Given the description of an element on the screen output the (x, y) to click on. 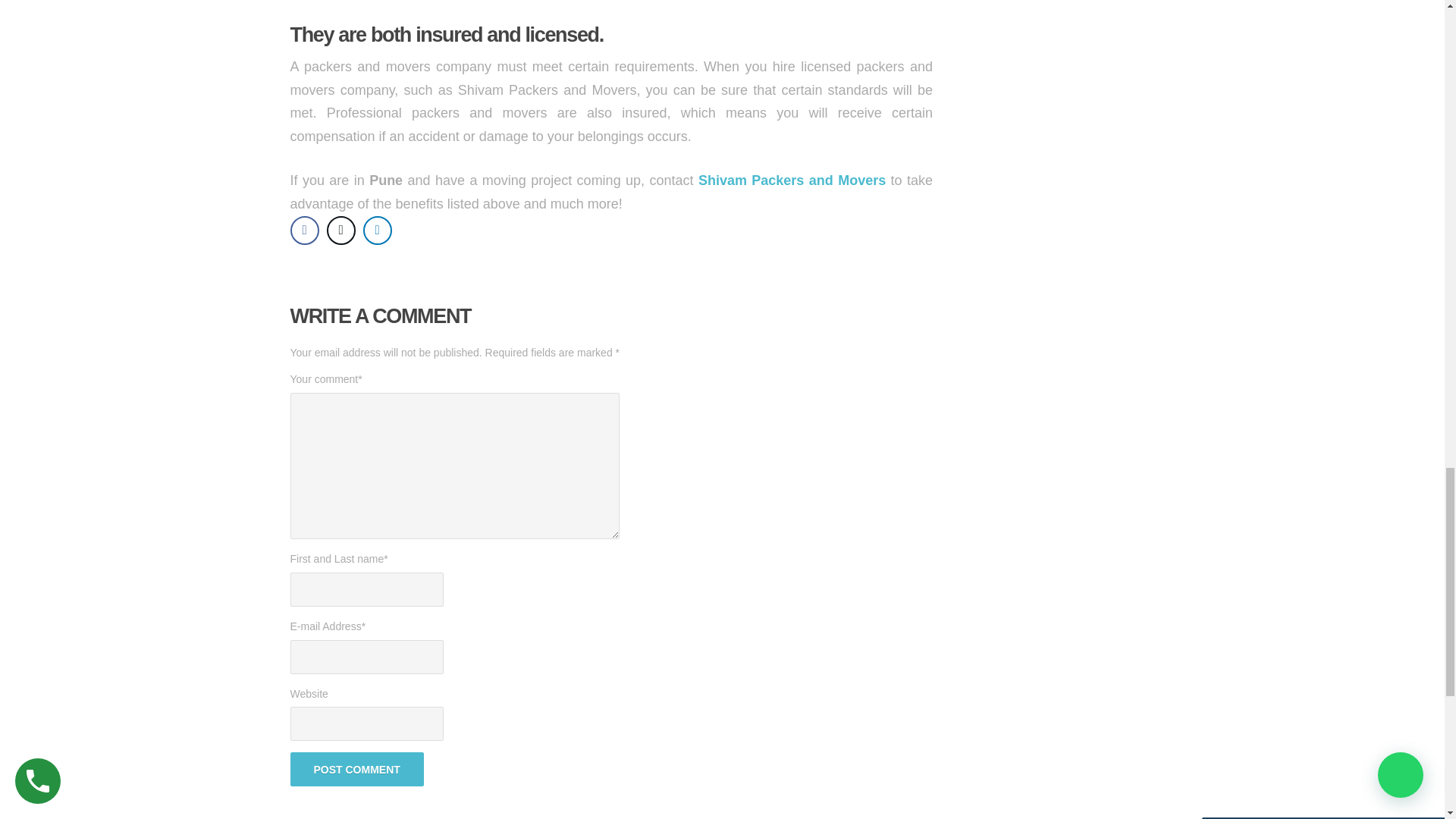
Post Comment (356, 769)
Shivam Packers and Movers (791, 180)
Post Comment (356, 769)
